Given the description of an element on the screen output the (x, y) to click on. 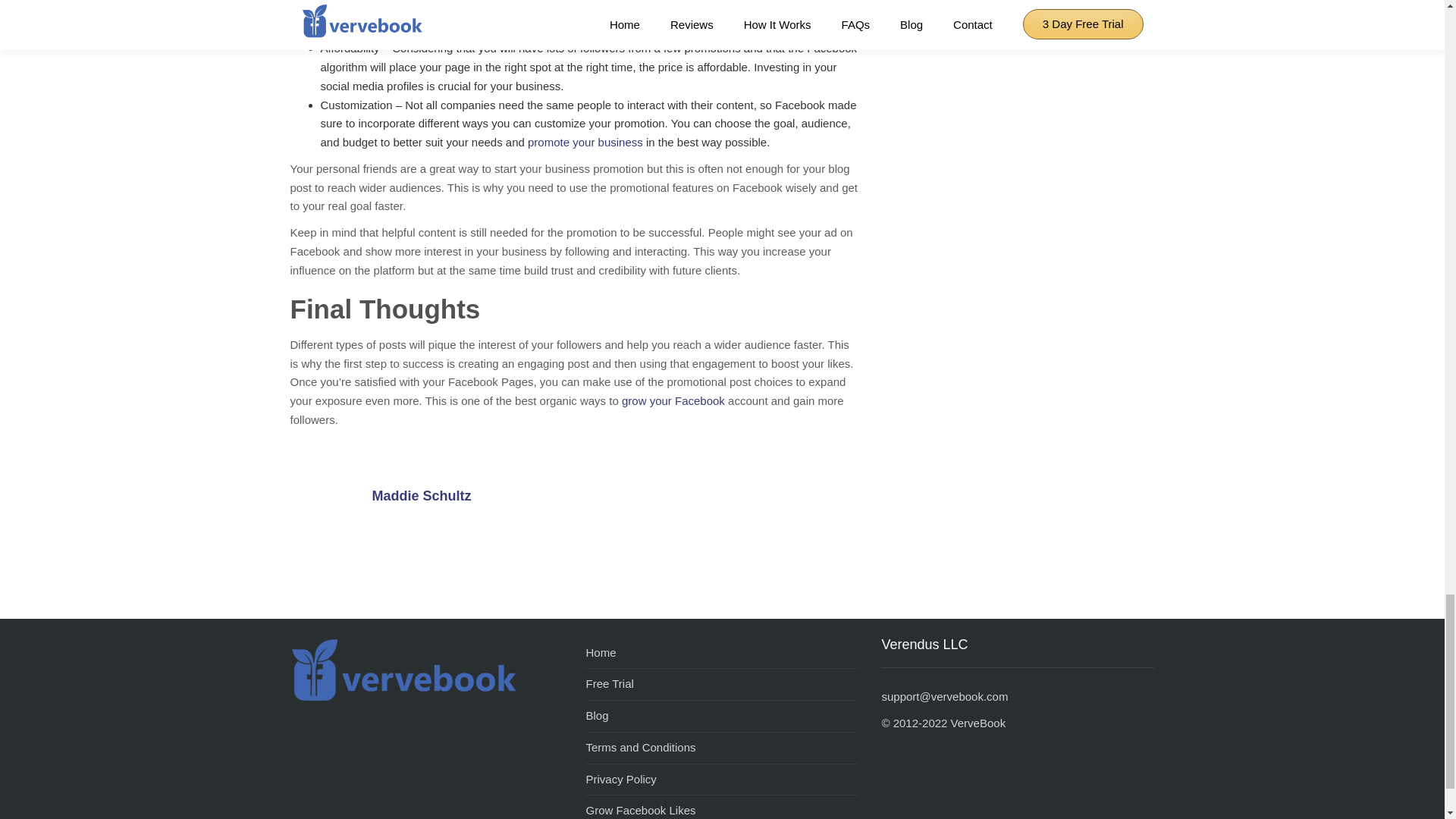
Maddie Schultz (328, 507)
